Given the description of an element on the screen output the (x, y) to click on. 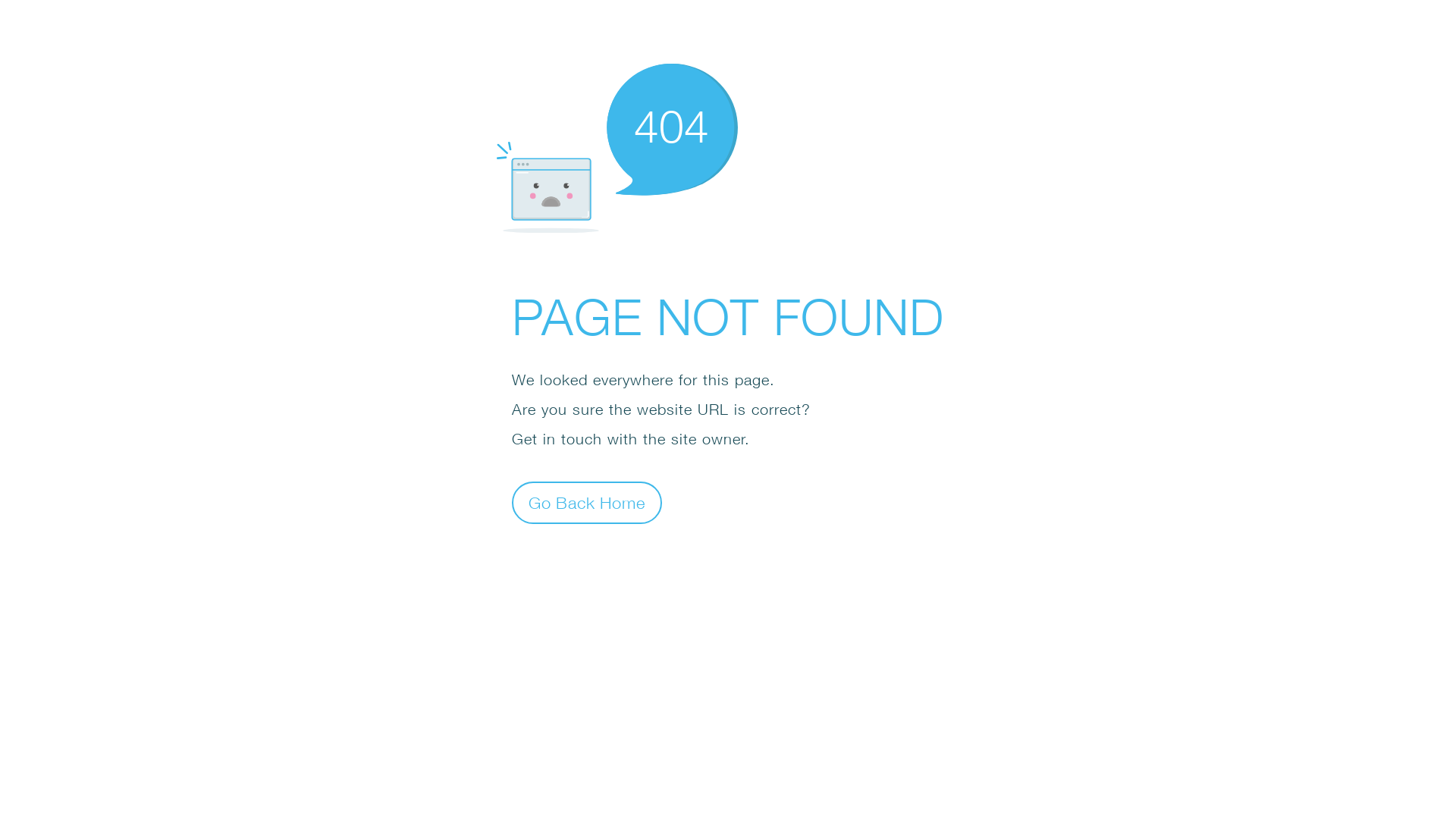
Go Back Home Element type: text (586, 502)
